Given the description of an element on the screen output the (x, y) to click on. 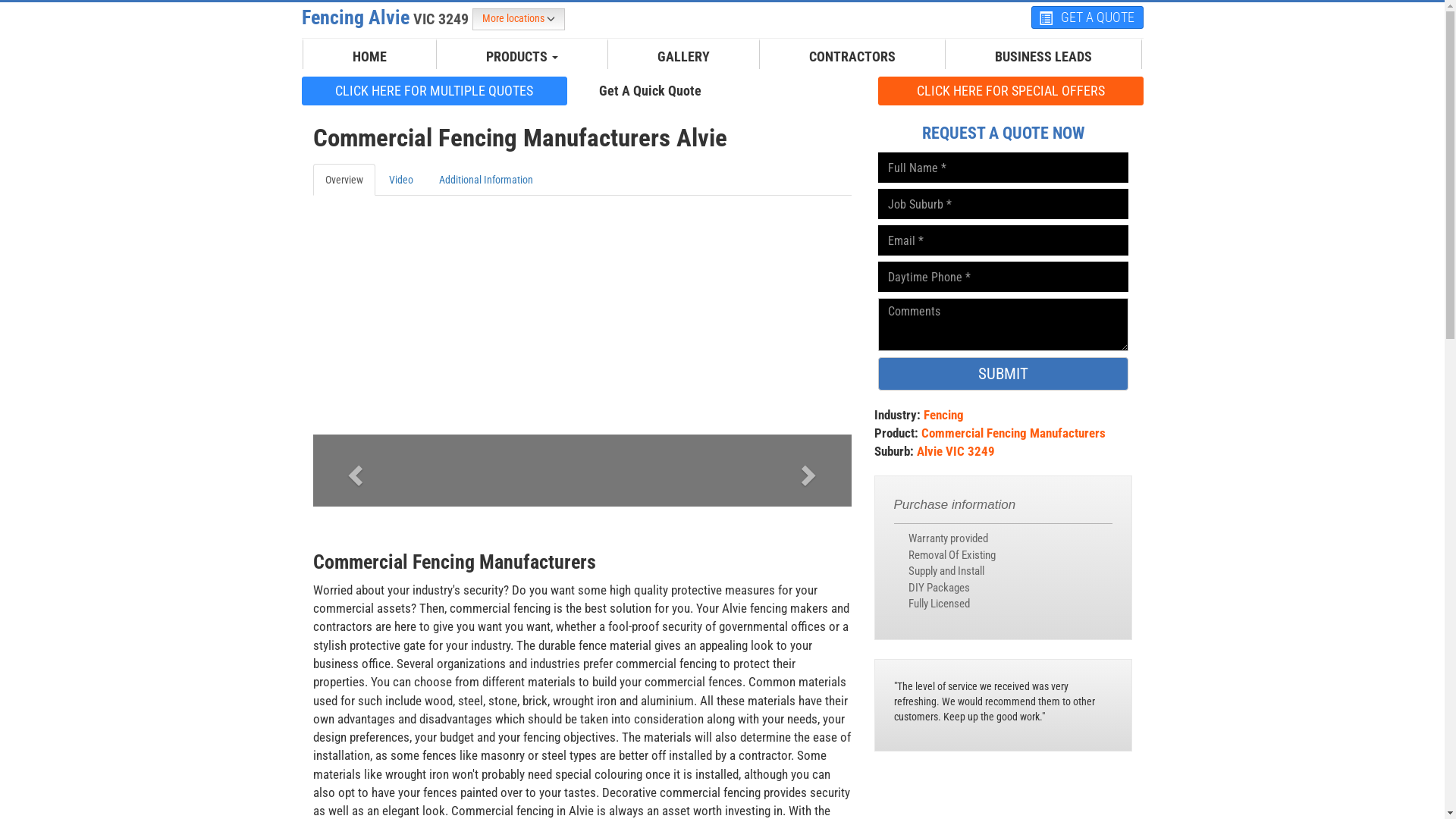
Overview Element type: text (343, 179)
PRODUCTS Element type: text (521, 56)
Get your business listed! Element type: text (793, 89)
HOME Element type: text (369, 56)
Get A Quick Quote Element type: text (650, 90)
prev Element type: hover (352, 470)
Get A Quick Quote Element type: text (650, 90)
CLICK HERE FOR MULTIPLE QUOTES Element type: text (434, 90)
CLICK HERE FOR SPECIAL OFFERS Element type: text (1010, 90)
CLICK HERE FOR MULTIPLE QUOTES Element type: text (434, 90)
SUBMIT Element type: text (1003, 373)
GALLERY Element type: text (683, 56)
BUSINESS LEADS Element type: text (1042, 56)
More locations Element type: text (517, 19)
GET A QUOTE Element type: text (1087, 17)
Additional Information Element type: text (485, 179)
CLICK HERE FOR SPECIAL OFFERS Element type: text (1010, 90)
CONTRACTORS Element type: text (851, 56)
Video Element type: text (400, 179)
Fencing Alvie VIC 3249 Element type: text (386, 17)
